Given the description of an element on the screen output the (x, y) to click on. 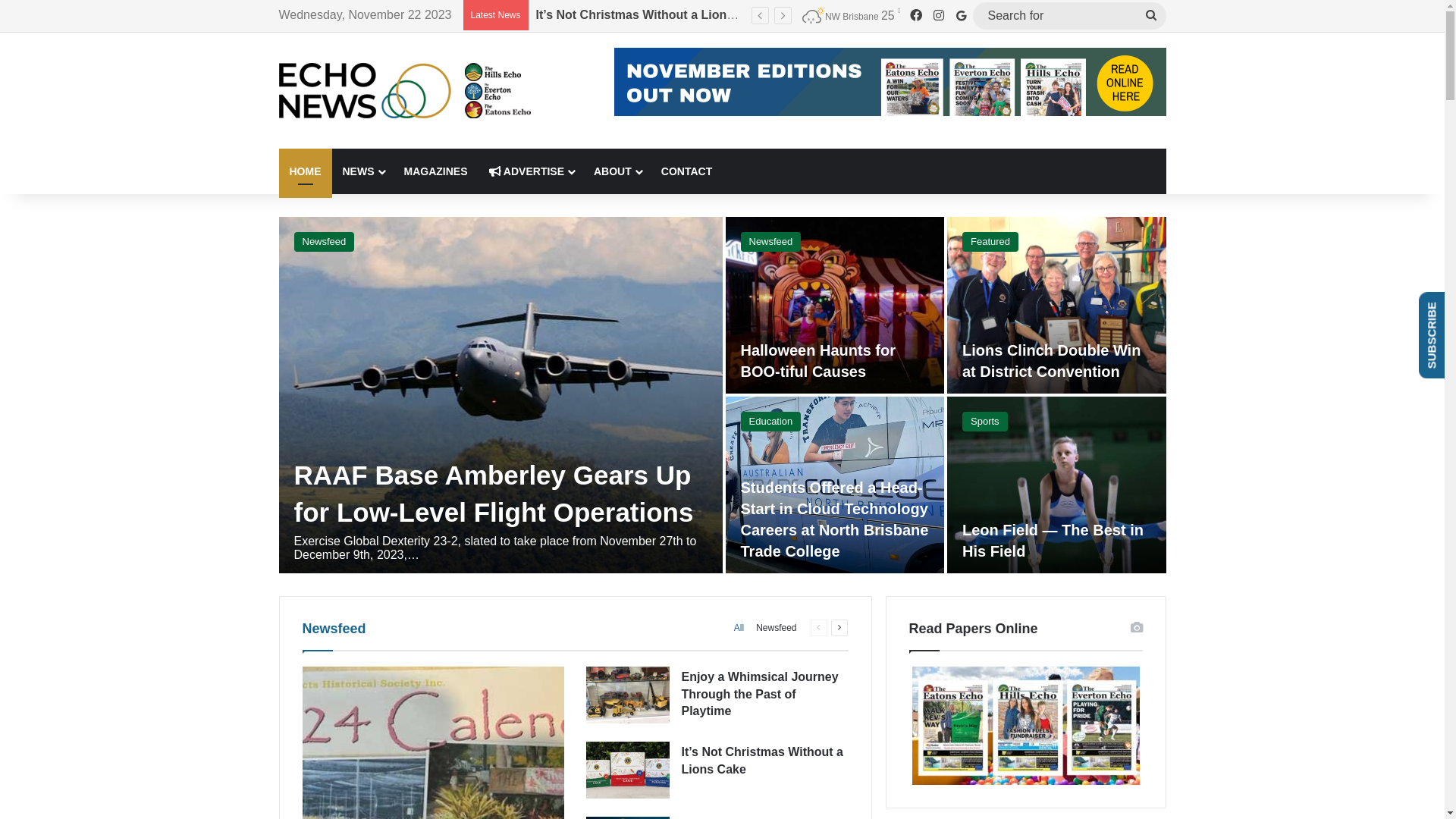
ADVERTISE Element type: text (530, 171)
ABOUT Element type: text (616, 171)
Search for Element type: text (1150, 15)
NEWS Element type: text (362, 171)
Echo News Element type: hover (404, 90)
Enjoy a Whimsical Journey Through the Past of Playtime Element type: text (758, 693)
Facebook Element type: text (914, 15)
CONTACT Element type: text (686, 171)
HOME Element type: text (305, 171)
Halloween Haunts for BOO-tiful Causes Element type: text (649, 14)
MAGAZINES Element type: text (434, 171)
Featured Element type: text (990, 241)
Newsfeed Element type: text (333, 628)
Education Element type: text (770, 421)
Instagram Element type: text (937, 15)
Sports Element type: text (984, 421)
Next page Element type: text (839, 627)
Newsfeed Element type: text (770, 241)
Google Element type: text (960, 15)
Previous page Element type: text (817, 627)
RAAF Base Amberley Gears Up for Low-Level Flight Operations Element type: text (493, 493)
Newsfeed Element type: text (324, 241)
All Element type: text (738, 627)
Halloween Haunts for BOO-tiful Causes Element type: text (817, 360)
Lions Clinch Double Win at District Convention Element type: text (1051, 360)
Newsfeed Element type: text (775, 627)
Search for Element type: hover (1068, 15)
